Given the description of an element on the screen output the (x, y) to click on. 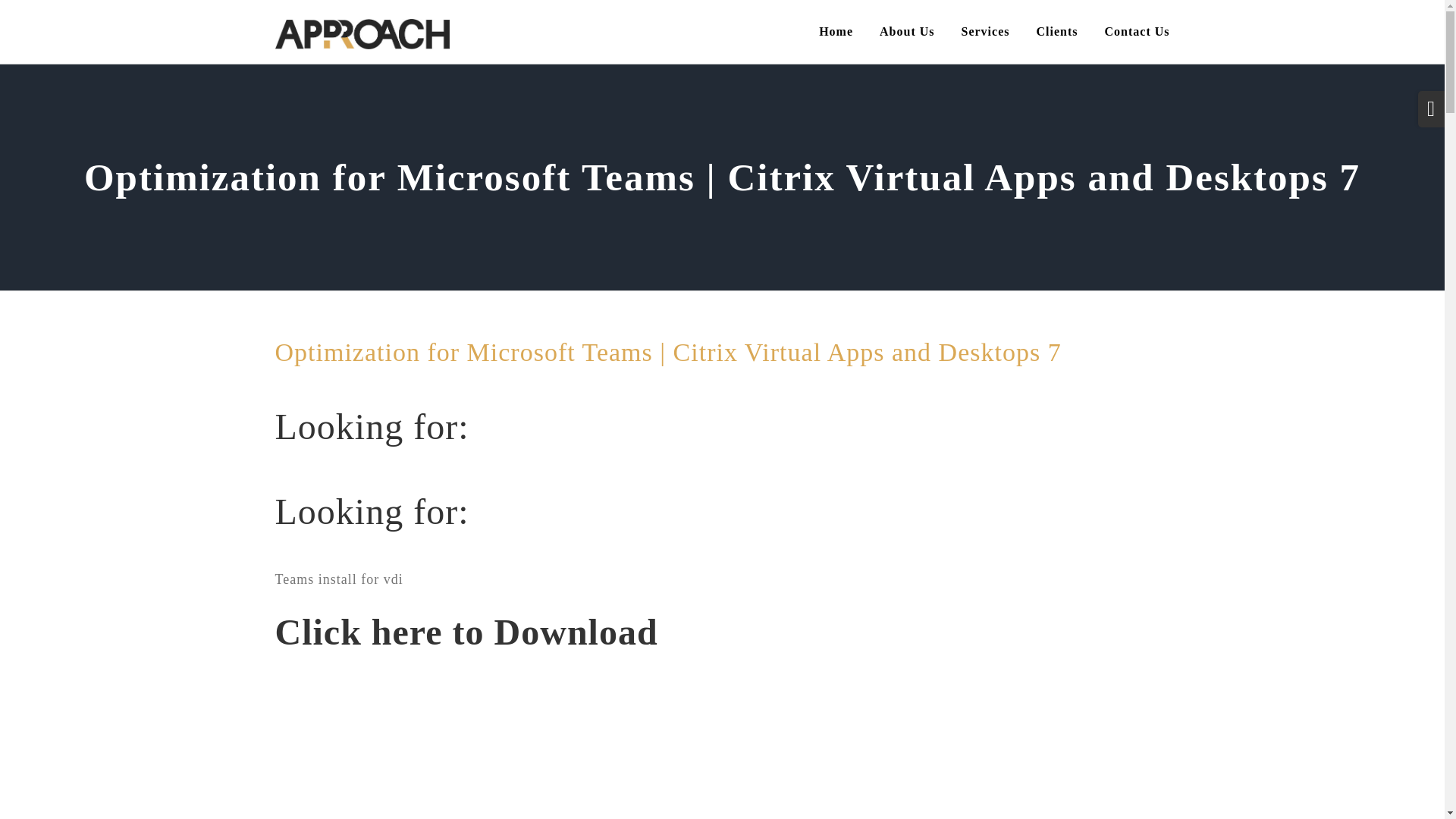
Contact Us (1136, 31)
Click here to Download (466, 639)
